Given the description of an element on the screen output the (x, y) to click on. 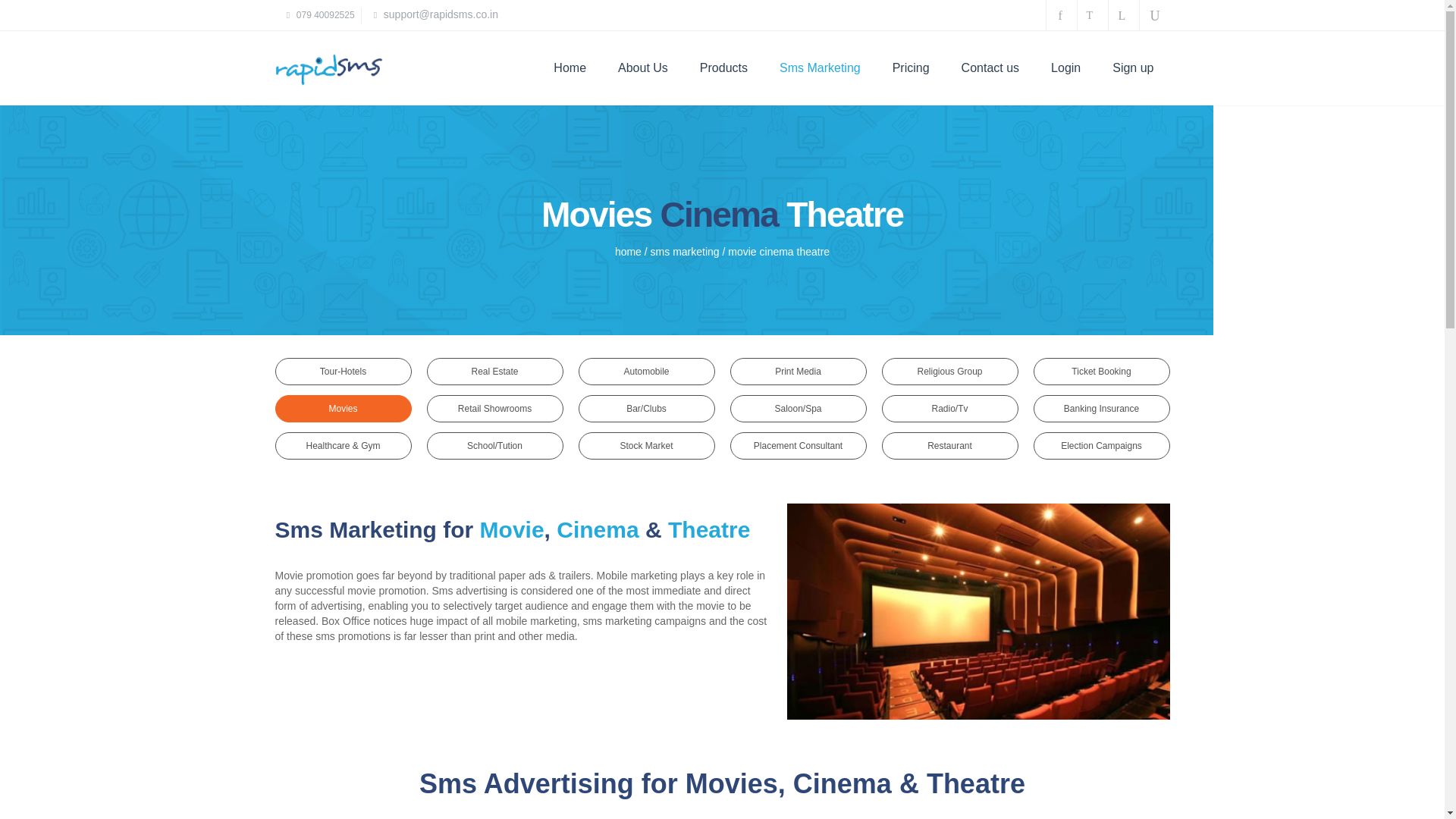
Products (723, 68)
About Us (643, 68)
Sms Marketing (819, 68)
